Given the description of an element on the screen output the (x, y) to click on. 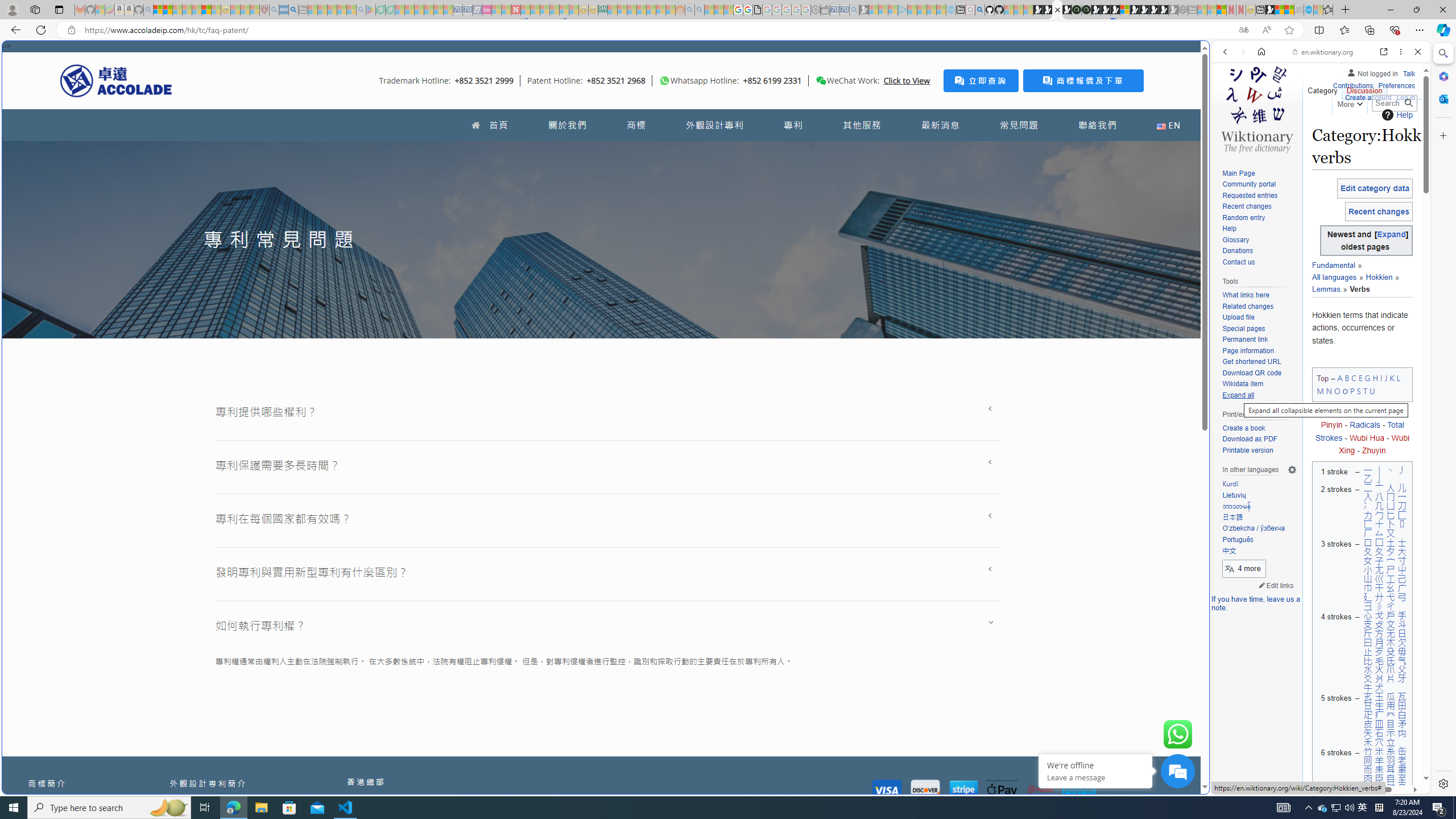
All languages (1333, 276)
P (1351, 390)
L (1398, 378)
Log in (1405, 96)
Search Wiktionary (1393, 103)
